Given the description of an element on the screen output the (x, y) to click on. 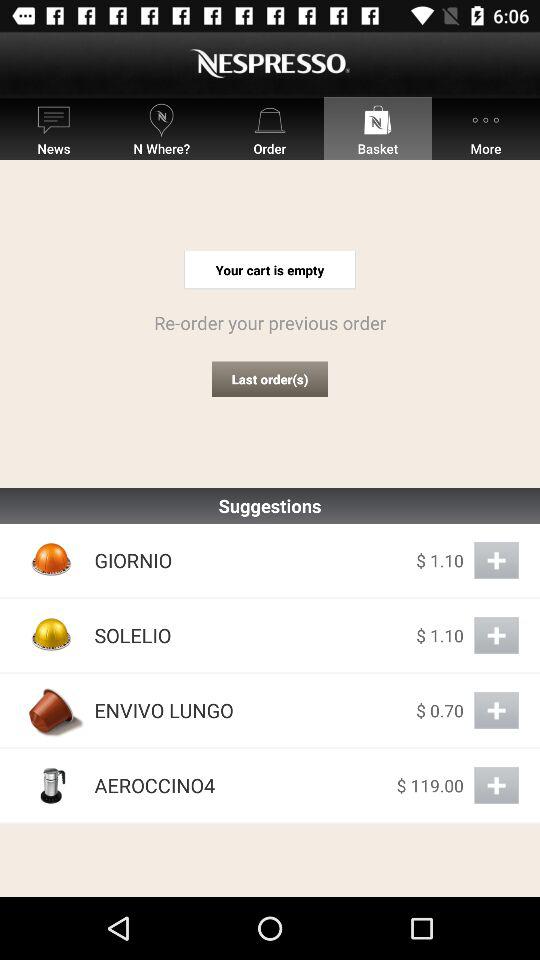
add to order (496, 635)
